Given the description of an element on the screen output the (x, y) to click on. 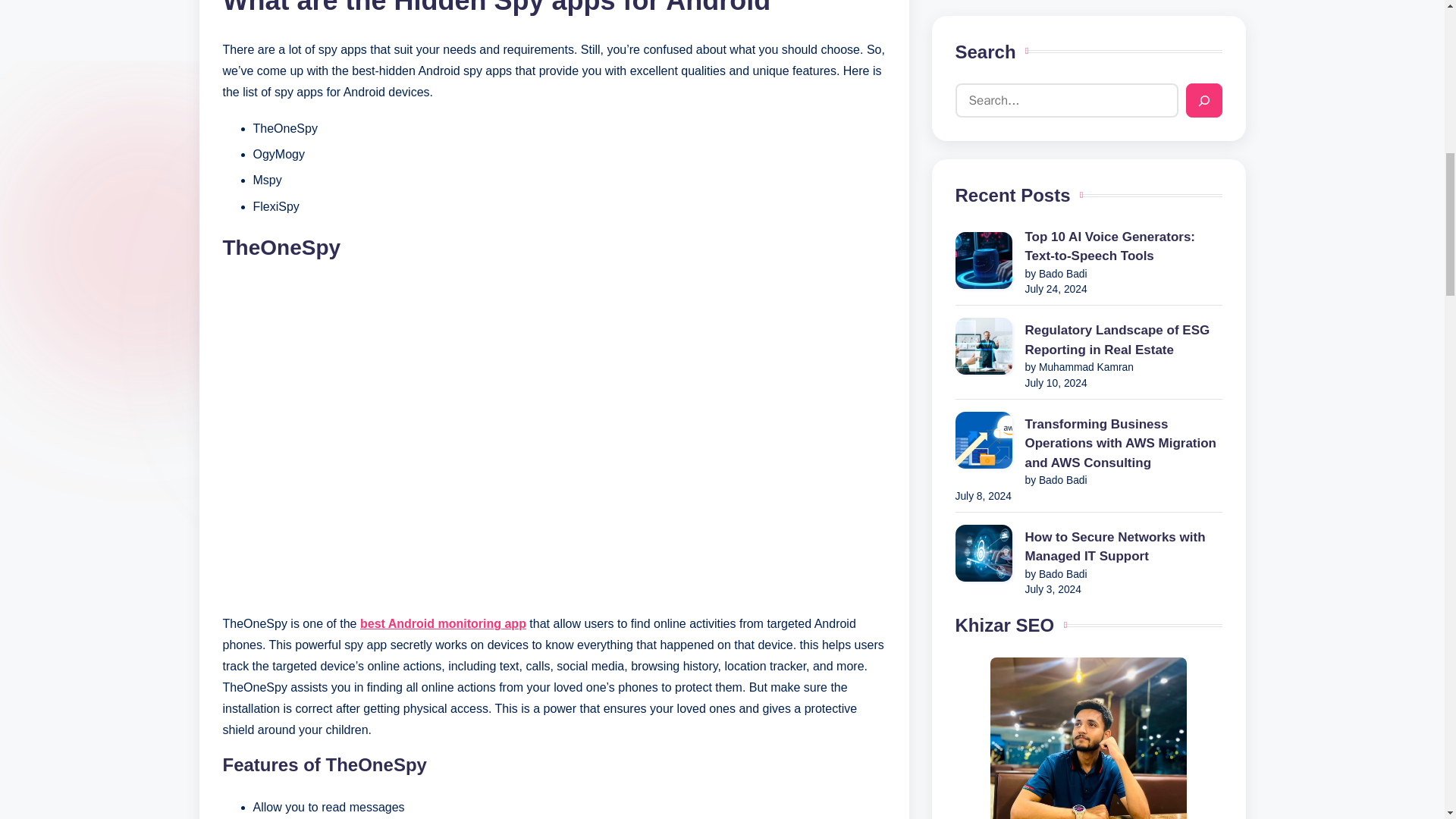
best Android monitoring app (442, 623)
